Given the description of an element on the screen output the (x, y) to click on. 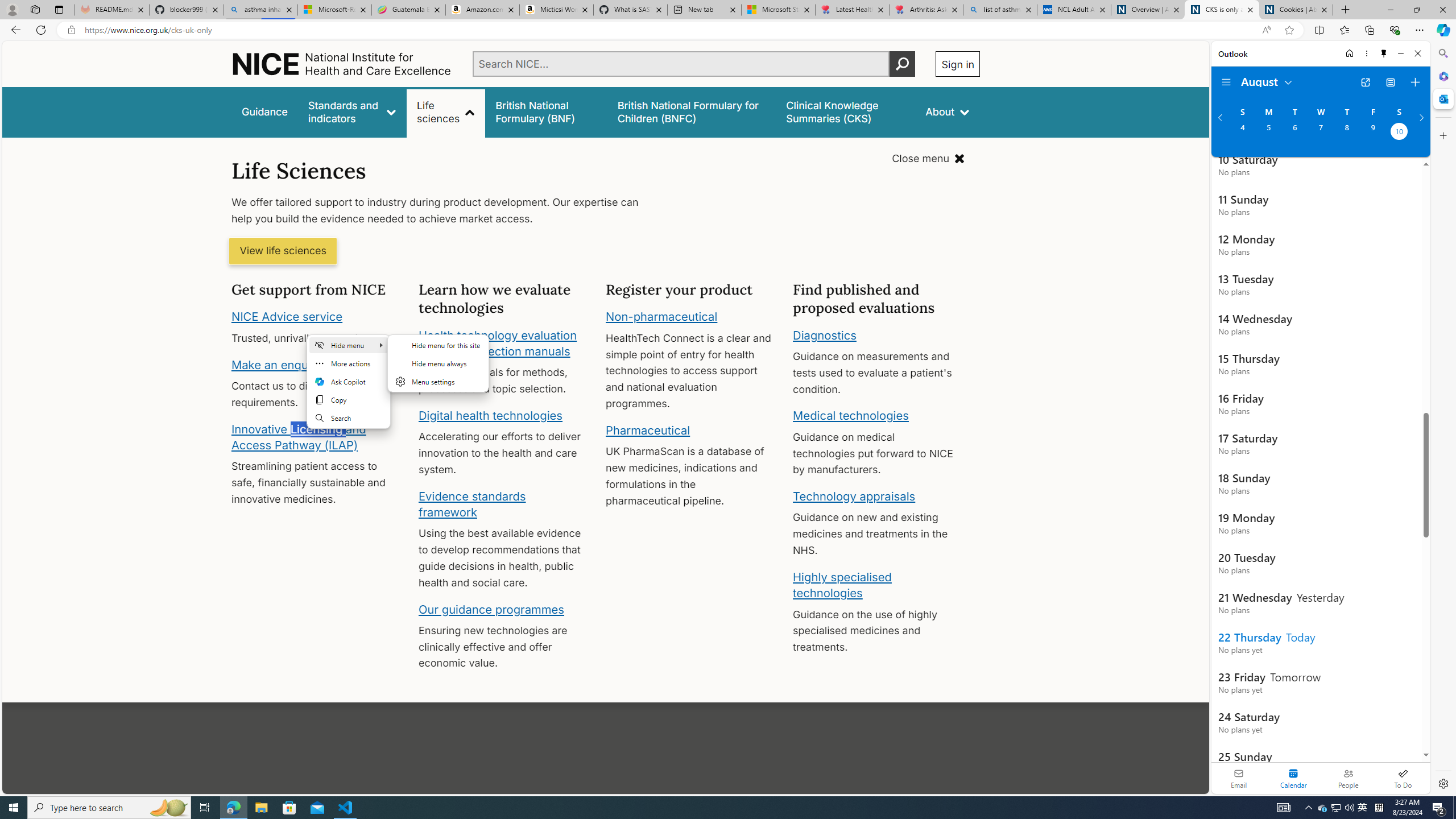
Digital health technologies (490, 414)
August (1267, 80)
Medical technologies (850, 415)
Hide menu (438, 362)
CKS is only available in the UK | NICE (1221, 9)
Copy (348, 399)
